Given the description of an element on the screen output the (x, y) to click on. 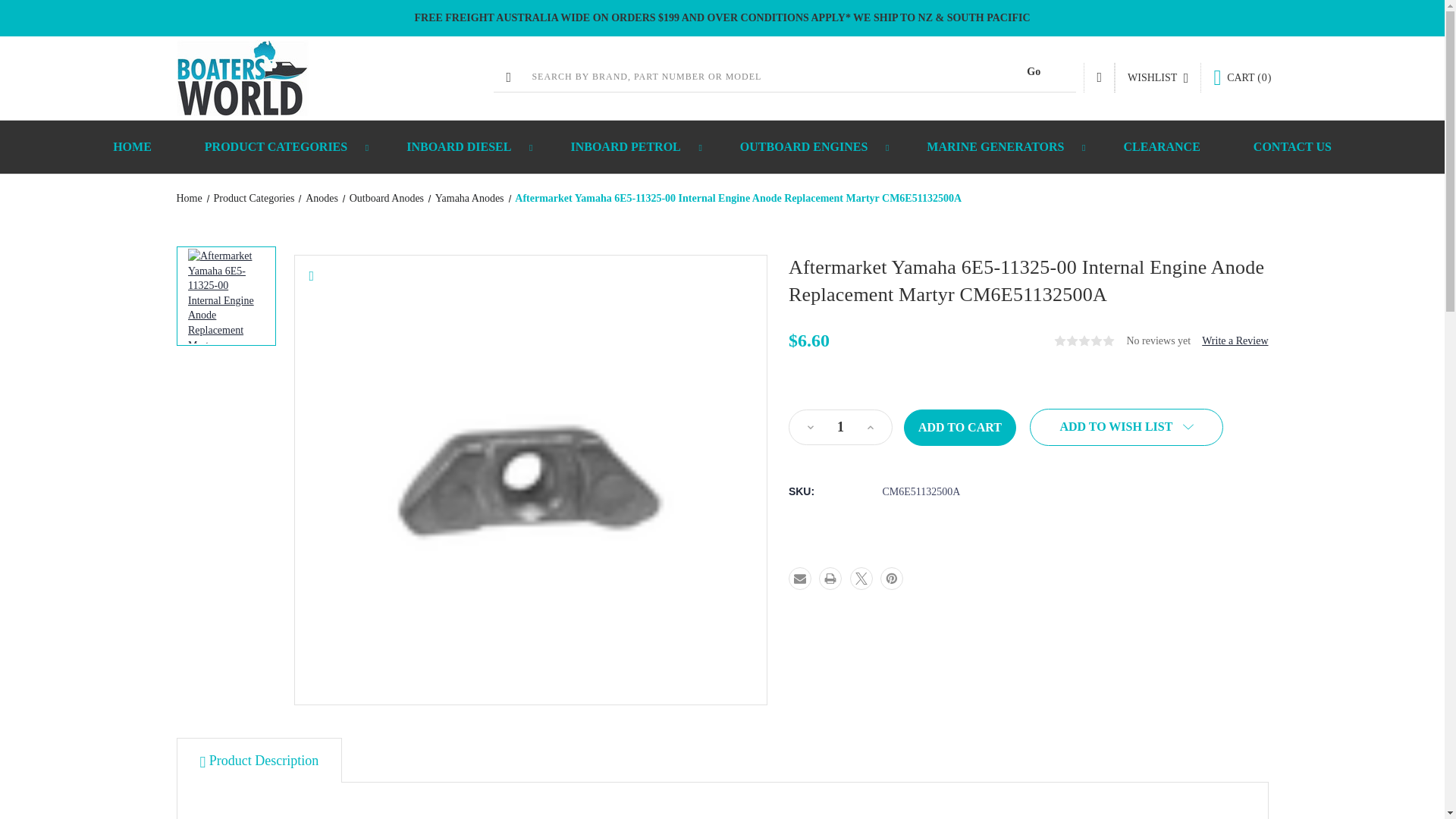
HOME (131, 146)
Add to Cart (960, 427)
CART 0 (1241, 77)
INBOARD DIESEL (461, 146)
Go (1033, 72)
Go (1033, 72)
Email (799, 578)
Boaters World (241, 78)
PRODUCT CATEGORIES (278, 146)
Pinterest (891, 578)
